Given the description of an element on the screen output the (x, y) to click on. 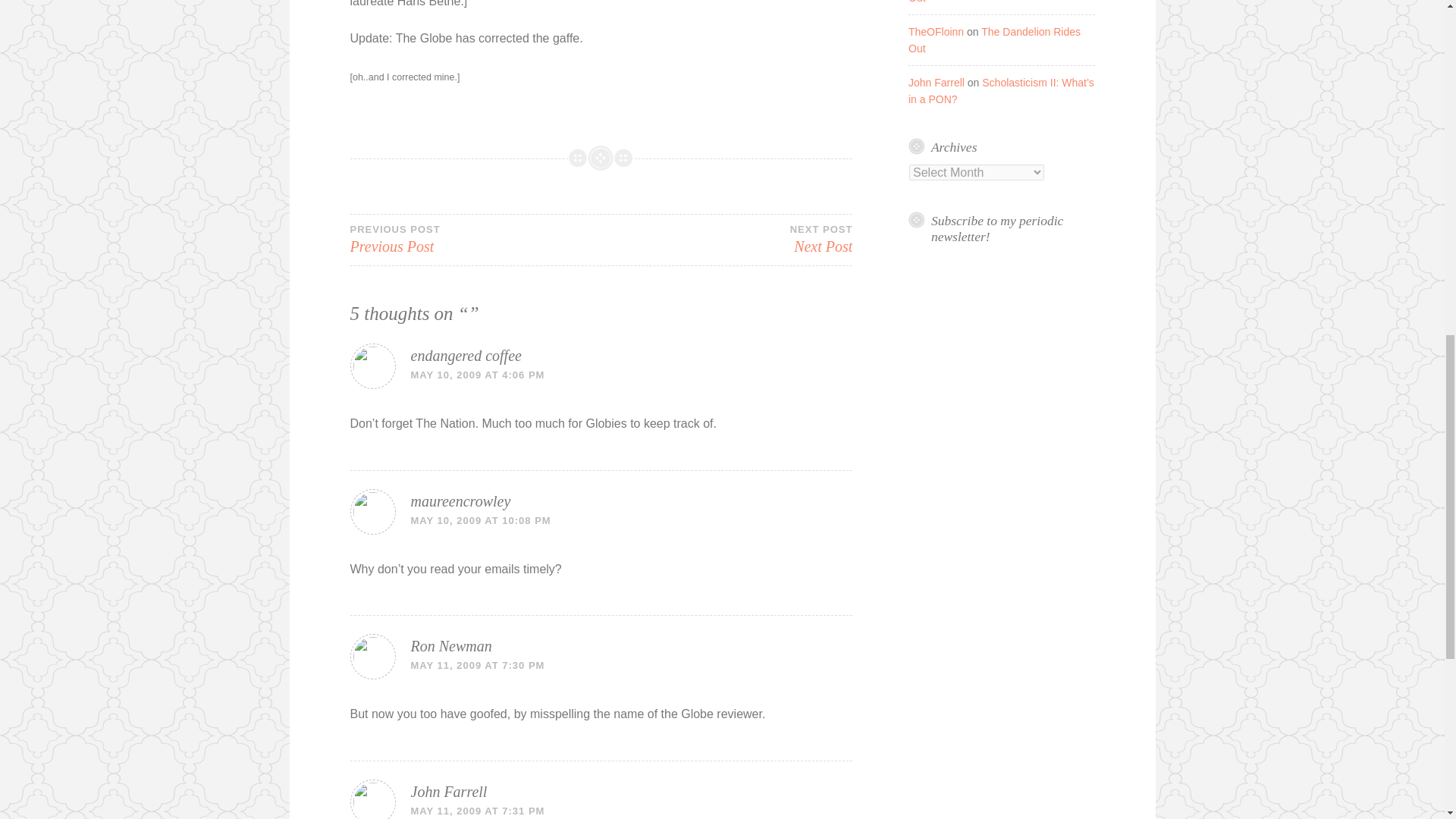
The Dandelion Rides Out (994, 2)
MAY 11, 2009 AT 7:31 PM (477, 810)
TheOFloinn (475, 238)
Ron Newman (935, 31)
MAY 11, 2009 AT 7:30 PM (726, 238)
endangered coffee (451, 646)
The Dandelion Rides Out (477, 665)
MAY 10, 2009 AT 10:08 PM (465, 355)
